Given the description of an element on the screen output the (x, y) to click on. 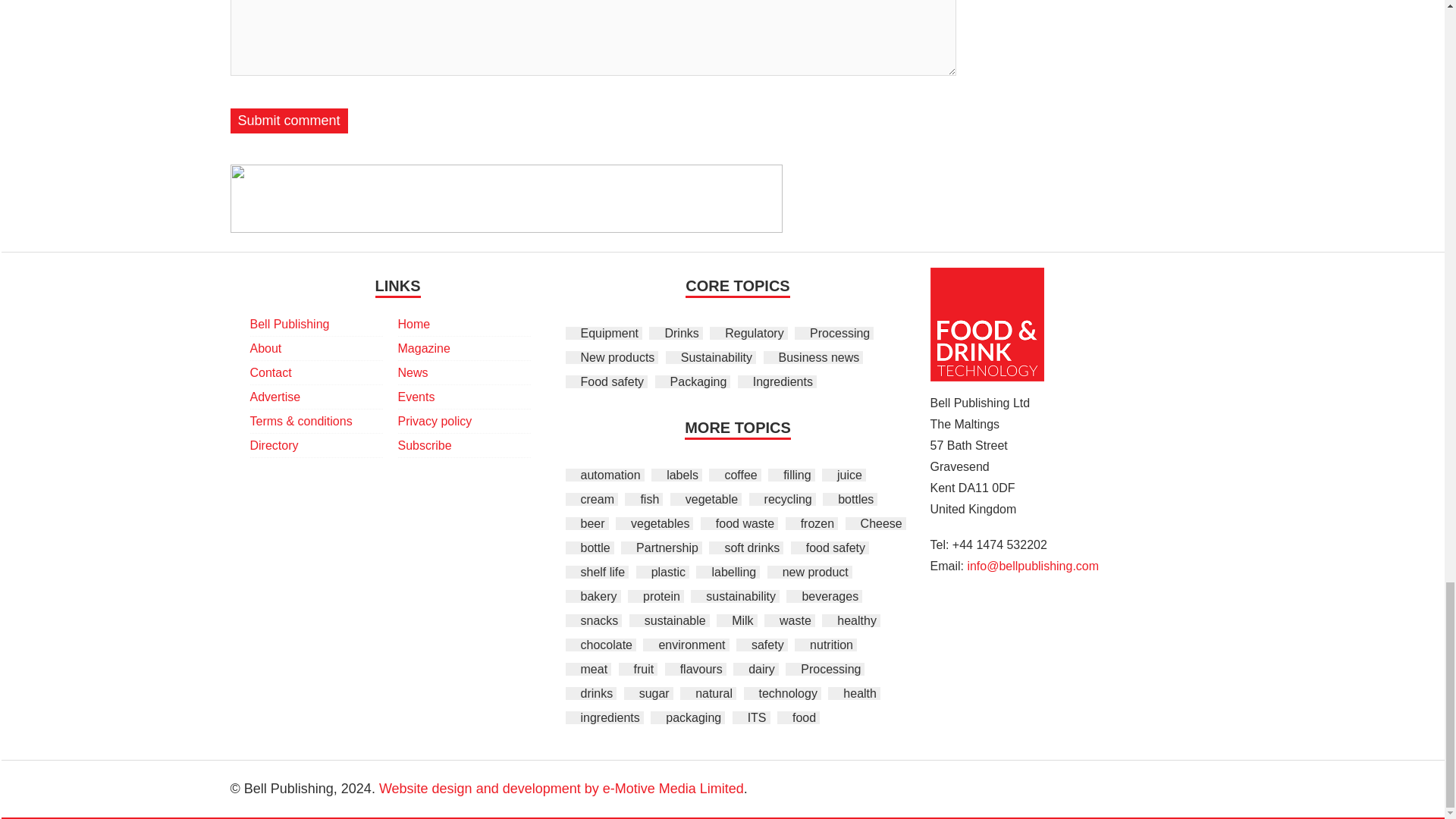
Submit comment (288, 120)
